Given the description of an element on the screen output the (x, y) to click on. 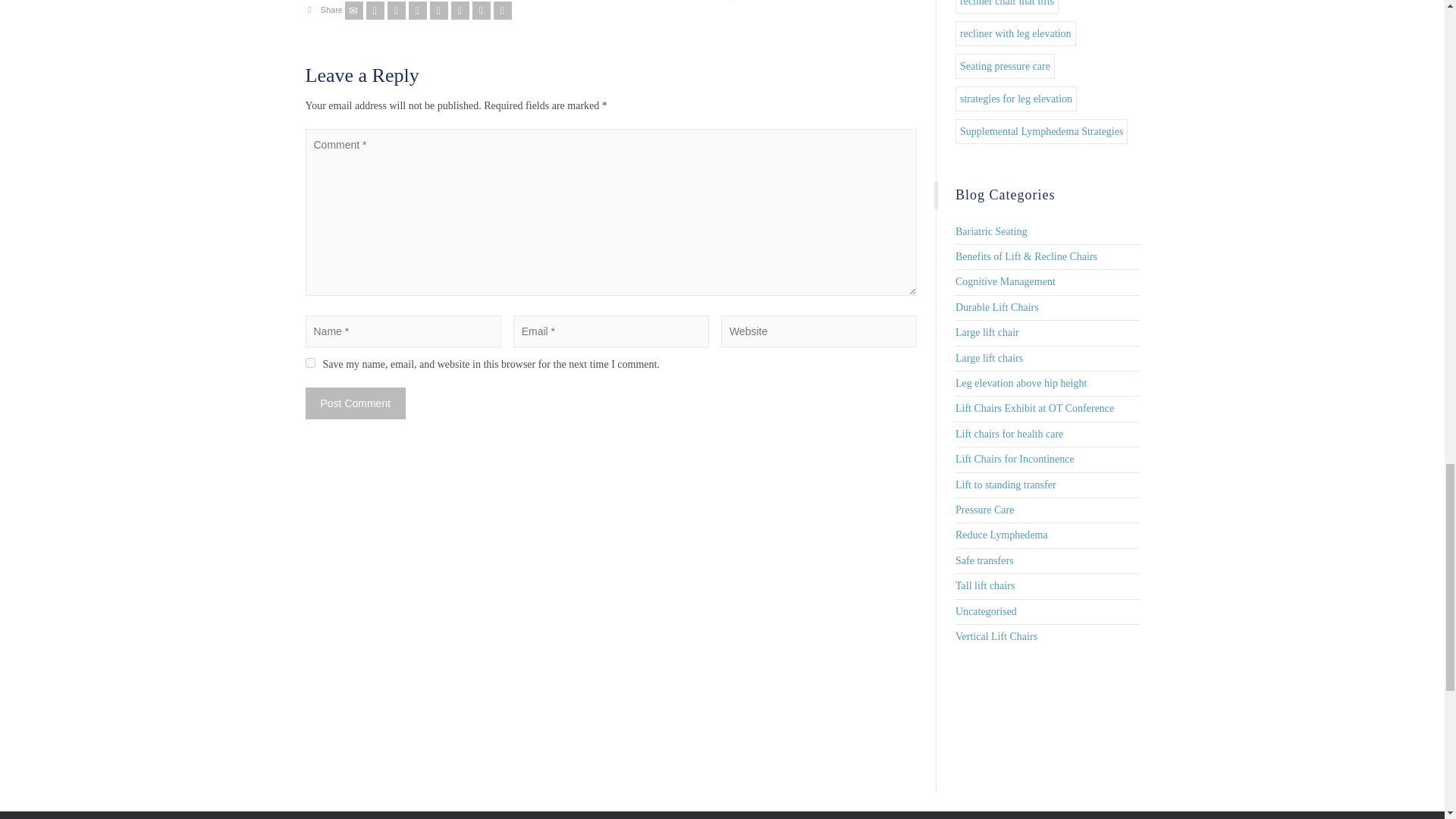
Vkontakte (502, 10)
Linkedin (480, 10)
yes (309, 362)
Facebook (396, 10)
Tumblr (459, 10)
Post Comment (355, 403)
Pinterest (438, 10)
Email (353, 10)
Twitter (375, 10)
Post Comment (355, 403)
